Given the description of an element on the screen output the (x, y) to click on. 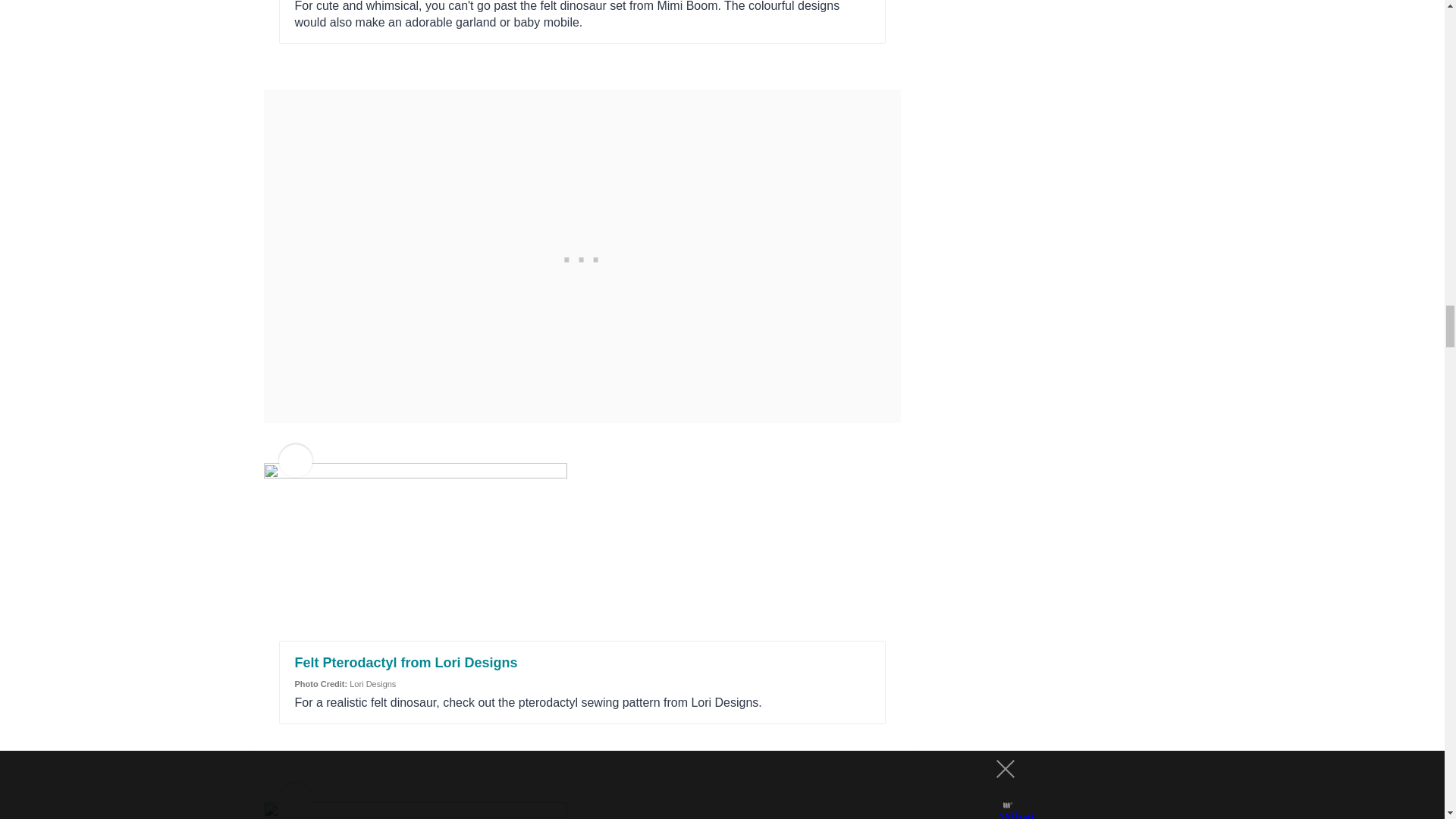
Felt Pterodactyl from Lori Designs (405, 662)
